Given the description of an element on the screen output the (x, y) to click on. 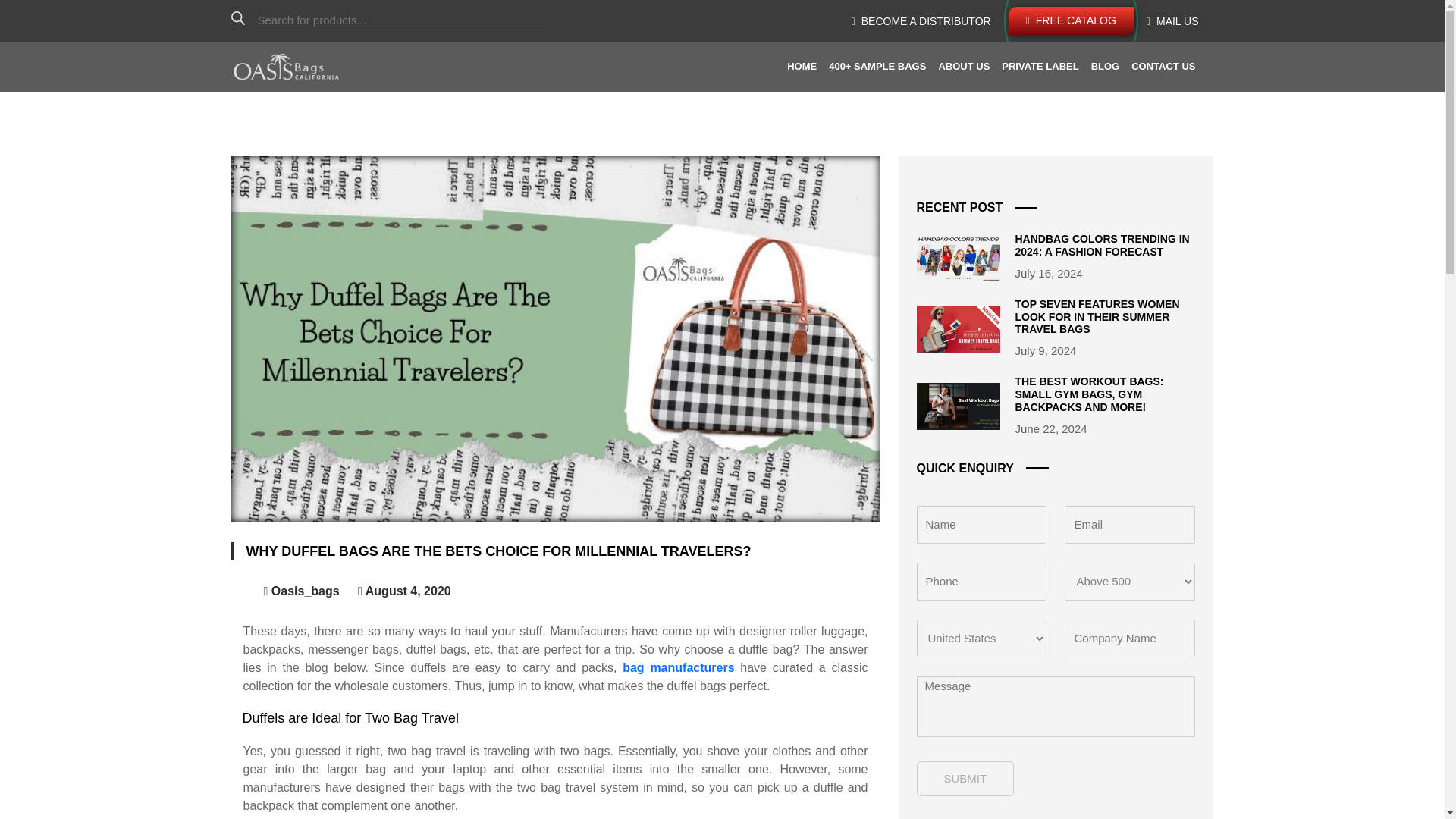
BECOME A DISTRIBUTOR (920, 21)
ABOUT US (963, 66)
MAIL US (1172, 21)
bag manufacturers (678, 667)
PRIVATE LABEL (1039, 66)
CONTACT US (1163, 66)
Submit (964, 778)
FREE CATALOG (1071, 20)
